Given the description of an element on the screen output the (x, y) to click on. 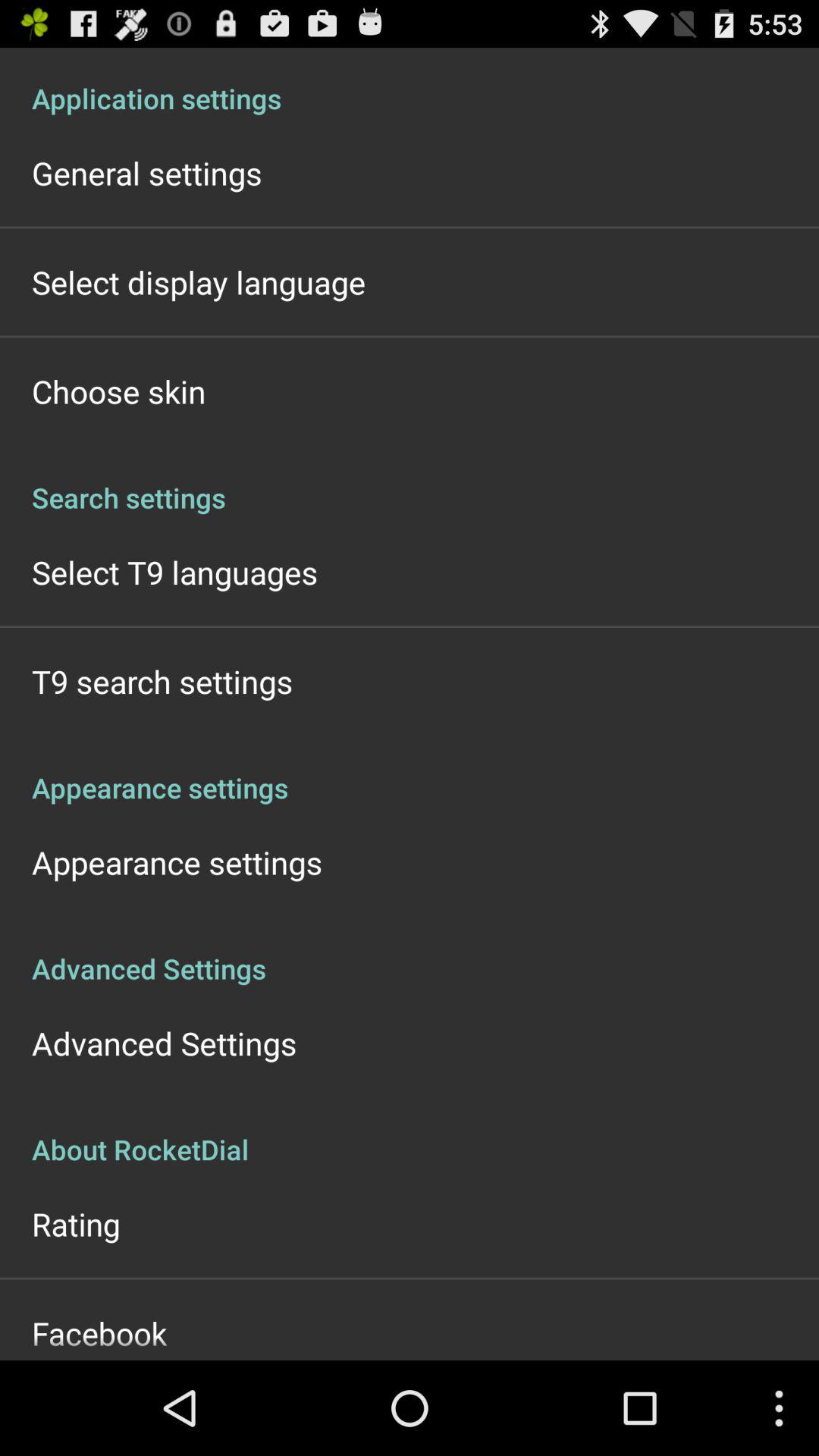
turn on app above the general settings icon (409, 82)
